Given the description of an element on the screen output the (x, y) to click on. 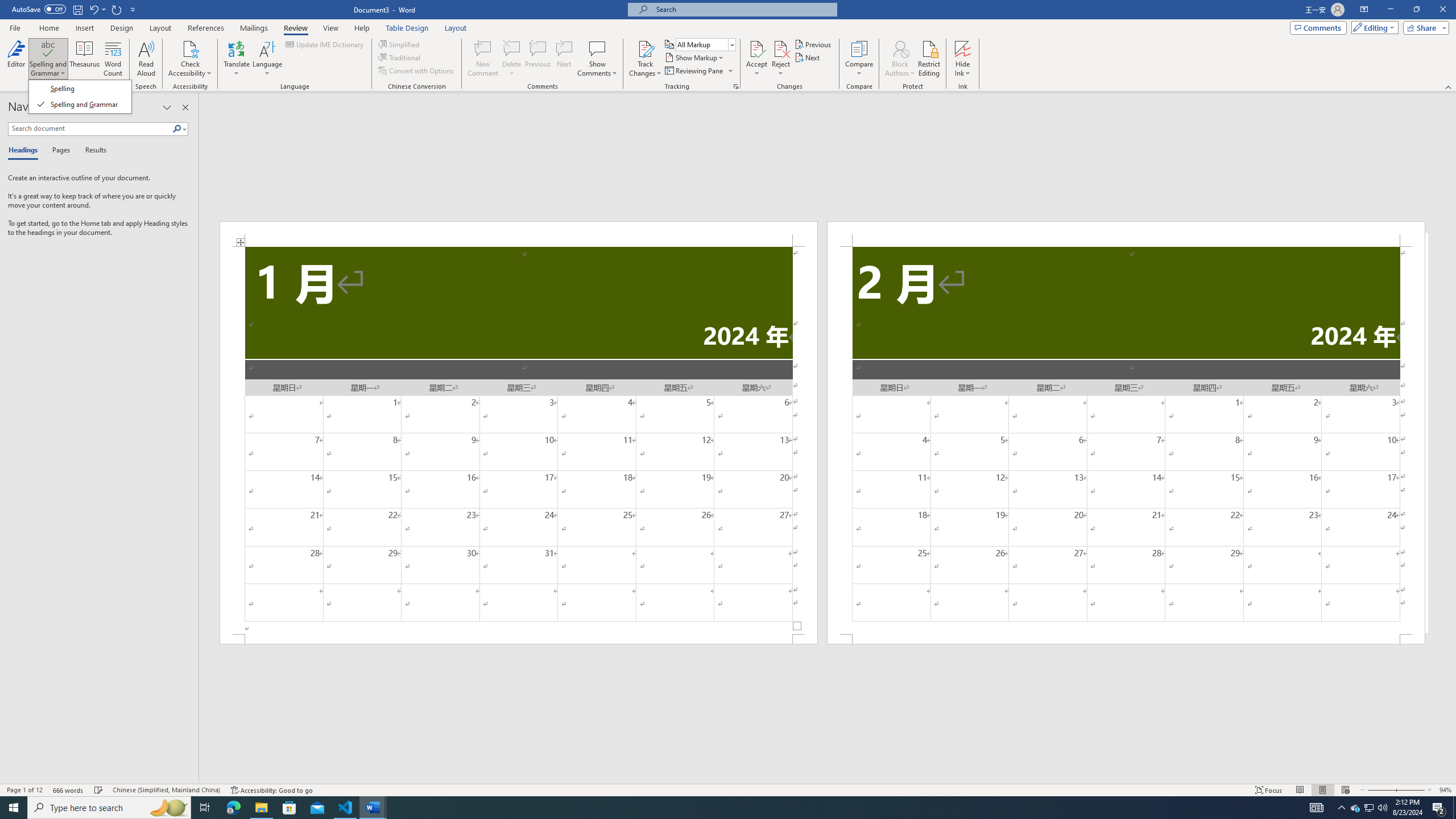
Hide Ink (962, 48)
New Comment (482, 58)
Reviewing Pane (698, 69)
Show Comments (597, 58)
Check Accessibility (189, 58)
Word - 2 running windows (373, 807)
